Given the description of an element on the screen output the (x, y) to click on. 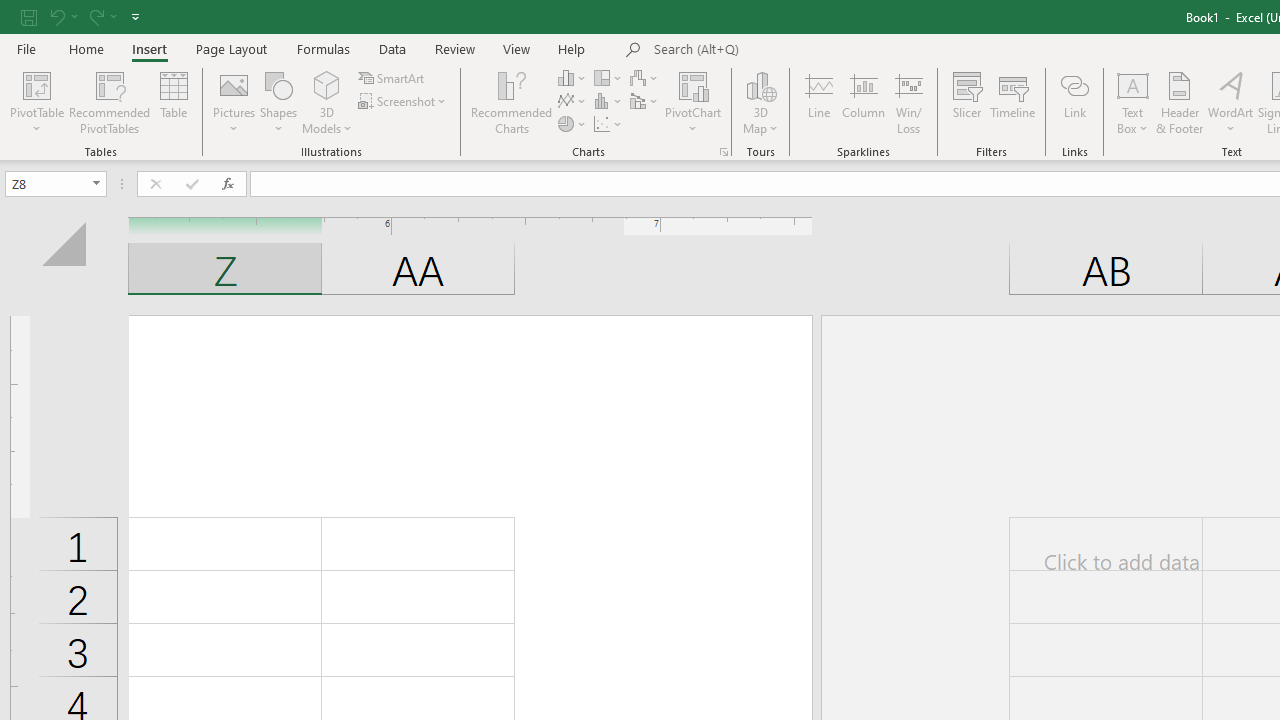
Win/Loss (909, 102)
PivotChart (693, 84)
3D Models (326, 102)
Insert Combo Chart (645, 101)
Draw Horizontal Text Box (1133, 84)
Insert Line or Area Chart (573, 101)
Header & Footer... (1179, 102)
Recommended PivotTables (109, 102)
Shapes (278, 102)
Recommended Charts (723, 151)
Link (1074, 102)
